Given the description of an element on the screen output the (x, y) to click on. 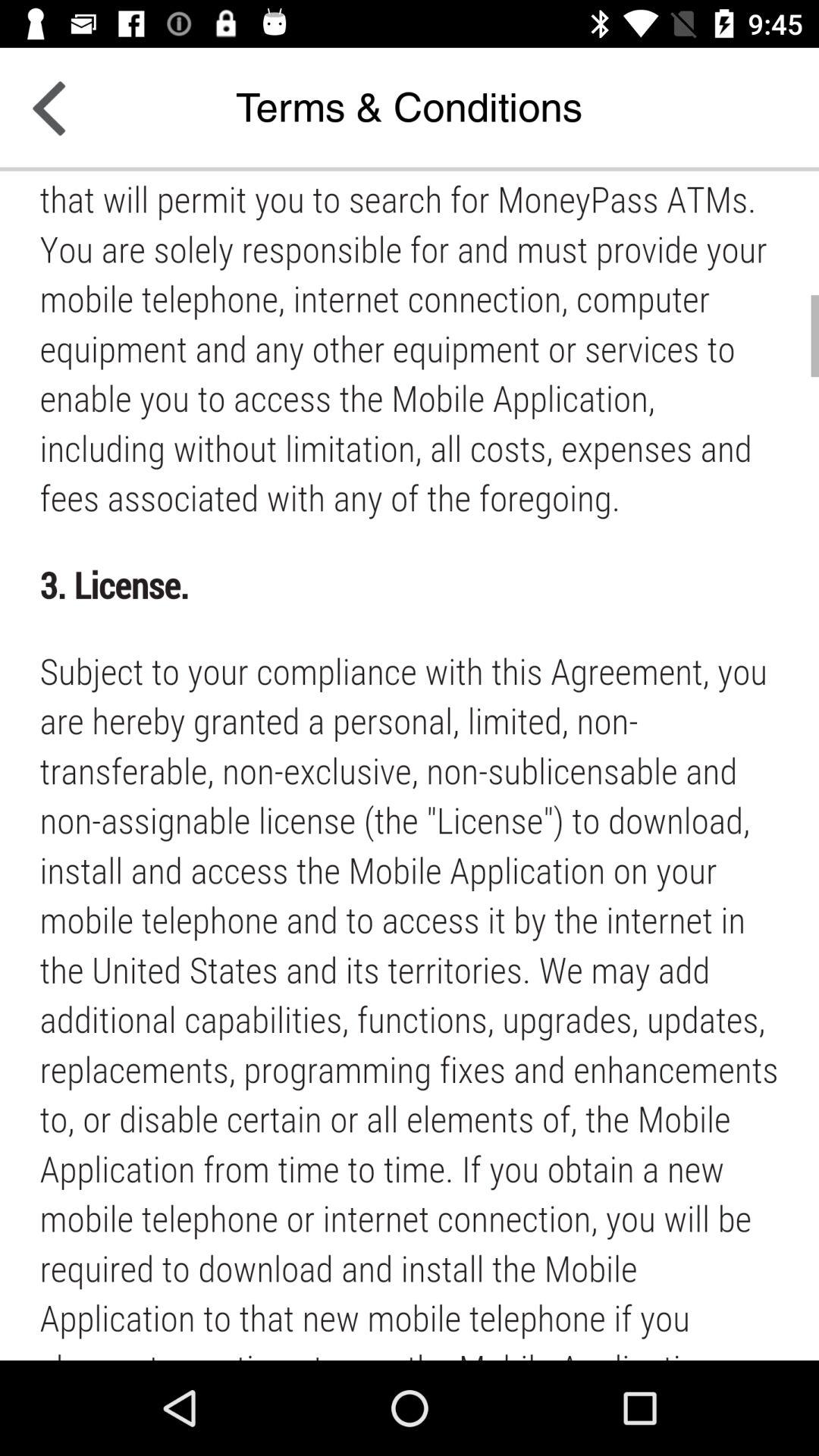
scroll terms and conditions (409, 765)
